Given the description of an element on the screen output the (x, y) to click on. 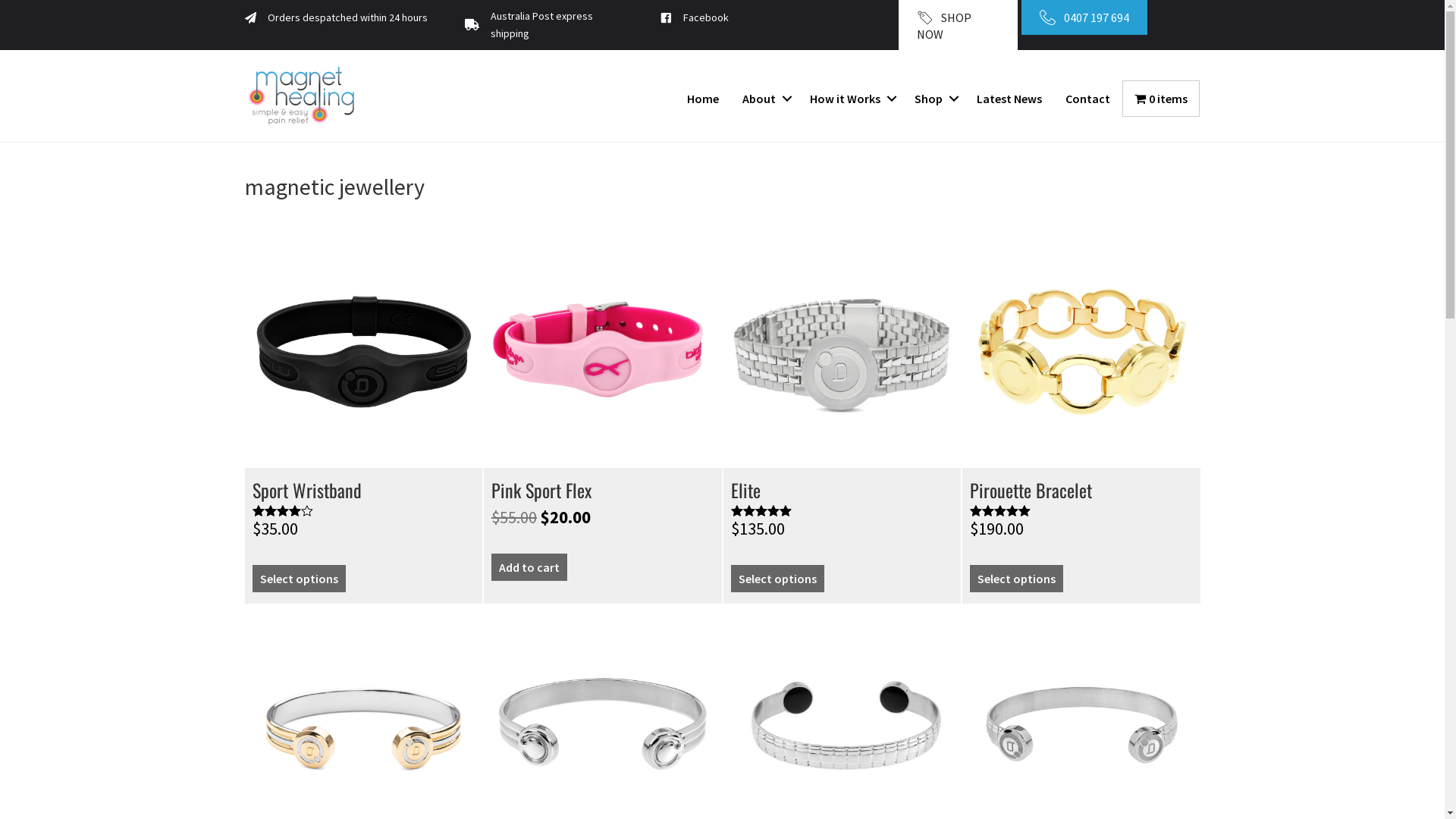
Sport Wristband Element type: hover (363, 416)
Skip to main content Element type: text (0, 0)
0 items Element type: text (1160, 98)
Select options Element type: text (298, 578)
Select options Element type: text (777, 578)
pirouette-bracelet-gold-F-1024x1024 Element type: hover (1081, 349)
Latest News Element type: text (1009, 98)
Facebook Element type: text (705, 17)
Add to cart Element type: text (529, 566)
Select options Element type: text (1016, 578)
Home Element type: text (702, 98)
Pink Sport Flex Element type: hover (602, 416)
Bioflow-Sport-Flex-Pink-Ribbon-F-800x800 Element type: hover (602, 349)
Shop Element type: text (933, 98)
Pirouette Bracelet Element type: hover (1081, 416)
WURiuVwU-elite-mens-bracelet-steel-F-2020-2-800x800 Element type: hover (842, 349)
Bioflow-Sport-Black-Black-F Element type: hover (363, 349)
How it Works Element type: text (850, 98)
SHOP NOW Element type: text (957, 25)
logo Element type: hover (301, 95)
About Element type: text (764, 98)
0407 197 694 Element type: text (1084, 17)
Elite Element type: hover (842, 416)
Contact Element type: text (1087, 98)
